Given the description of an element on the screen output the (x, y) to click on. 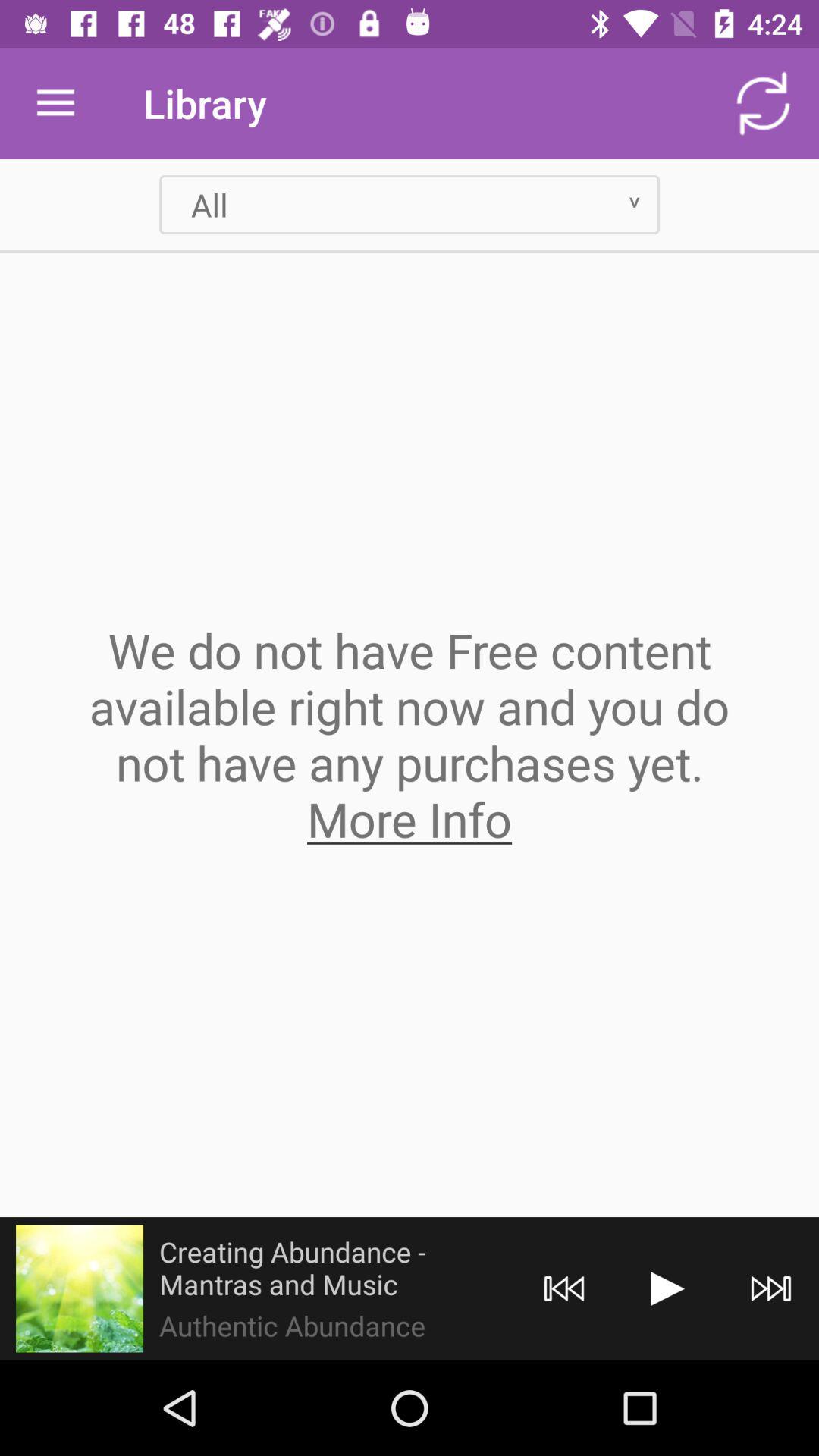
listen to sample (79, 1288)
